Given the description of an element on the screen output the (x, y) to click on. 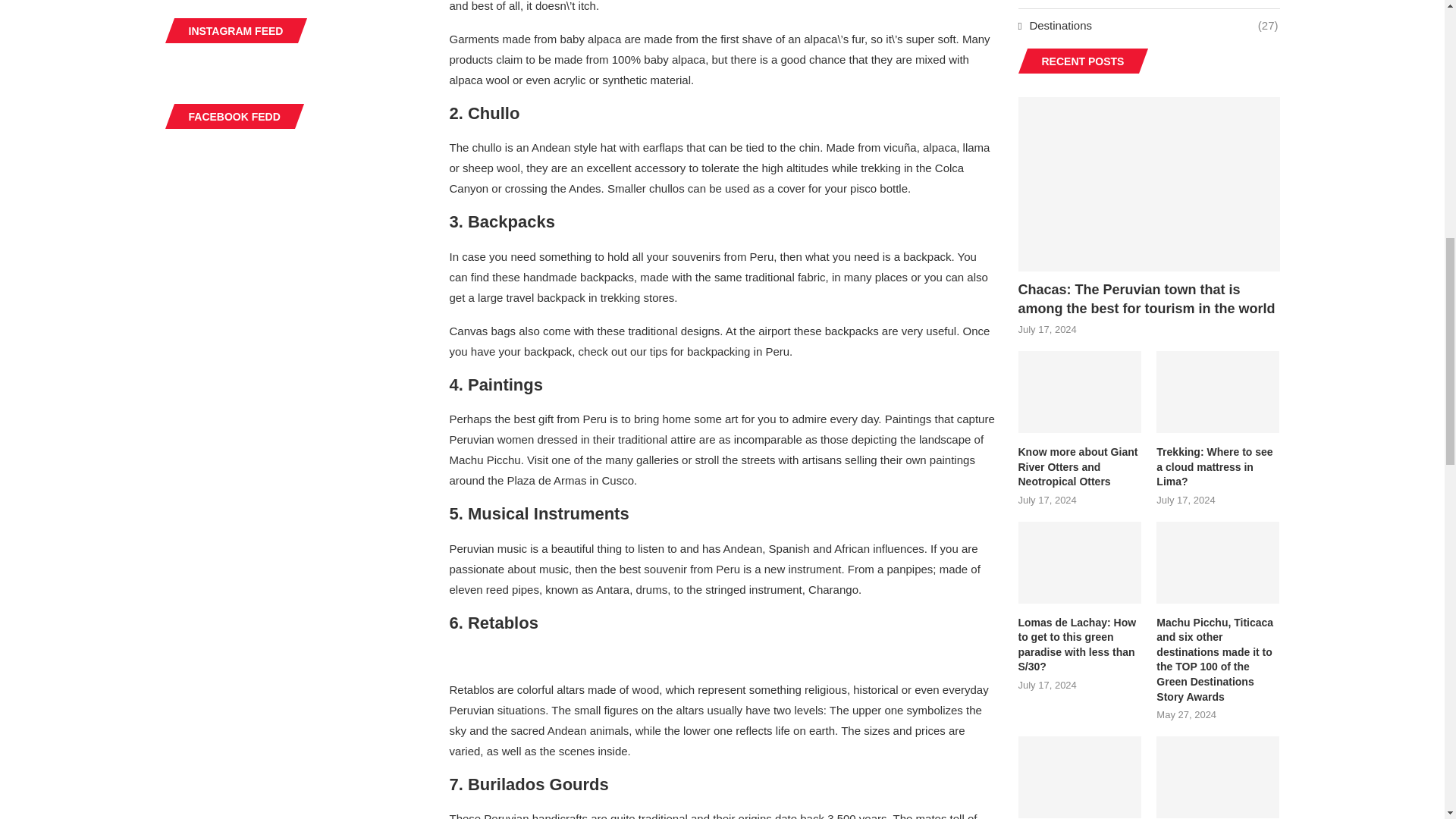
Trekking: Where to see a cloud mattress in Lima? (1217, 467)
Know more about Giant River Otters and Neotropical Otters (1078, 467)
Trekking: Where to see a cloud mattress in Lima? (1217, 467)
Know more about Giant River Otters and Neotropical Otters (1078, 467)
Trekking: Where to see a cloud mattress in Lima? (1217, 392)
Know more about Giant River Otters and Neotropical Otters (1078, 392)
